Given the description of an element on the screen output the (x, y) to click on. 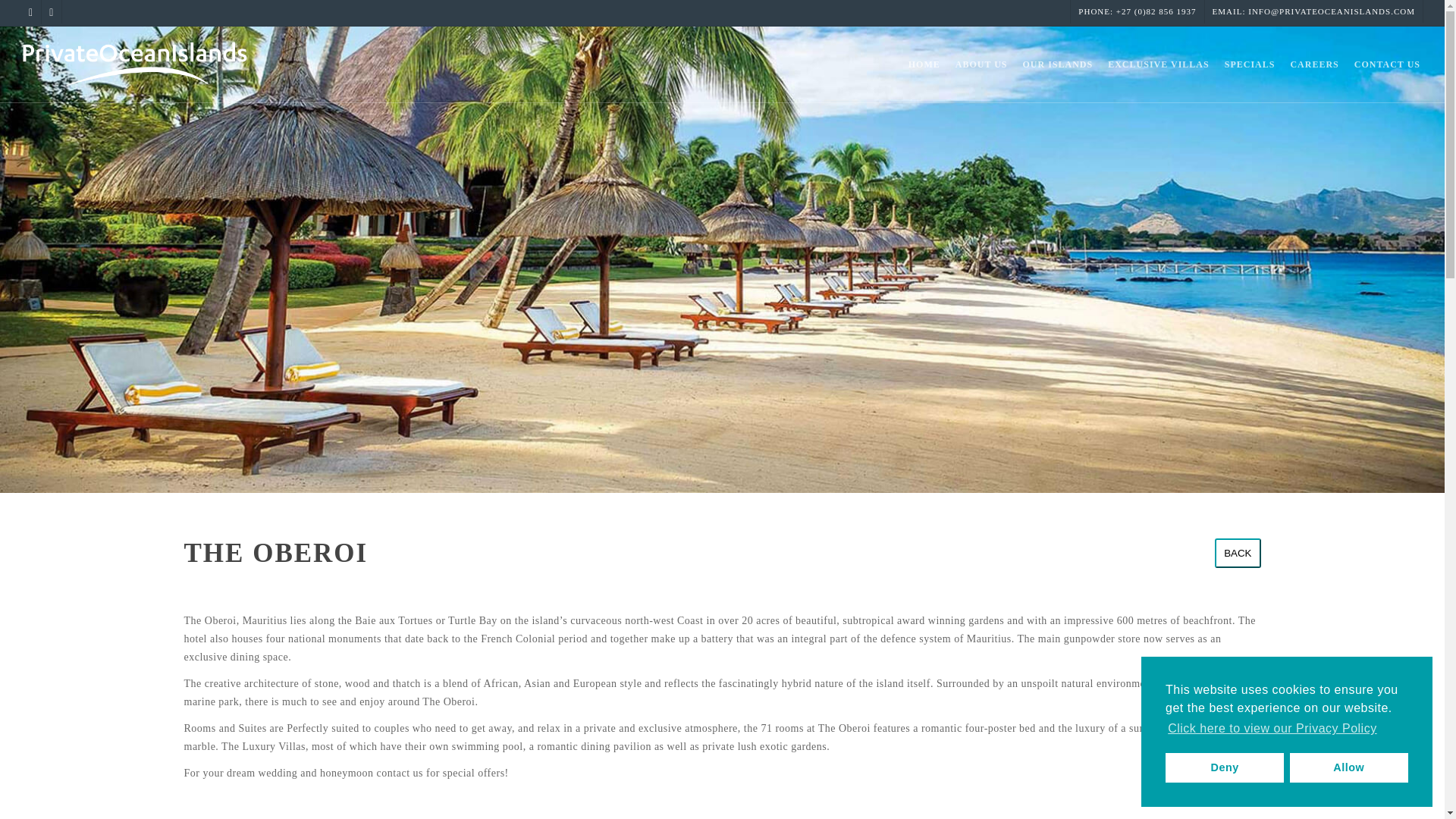
OUR ISLANDS (1057, 64)
BACK (1237, 553)
ABOUT US (980, 64)
SPECIALS (1249, 64)
EXCLUSIVE VILLAS (1158, 64)
HOME (924, 64)
CONTACT US (1387, 64)
CAREERS (1313, 64)
